Given the description of an element on the screen output the (x, y) to click on. 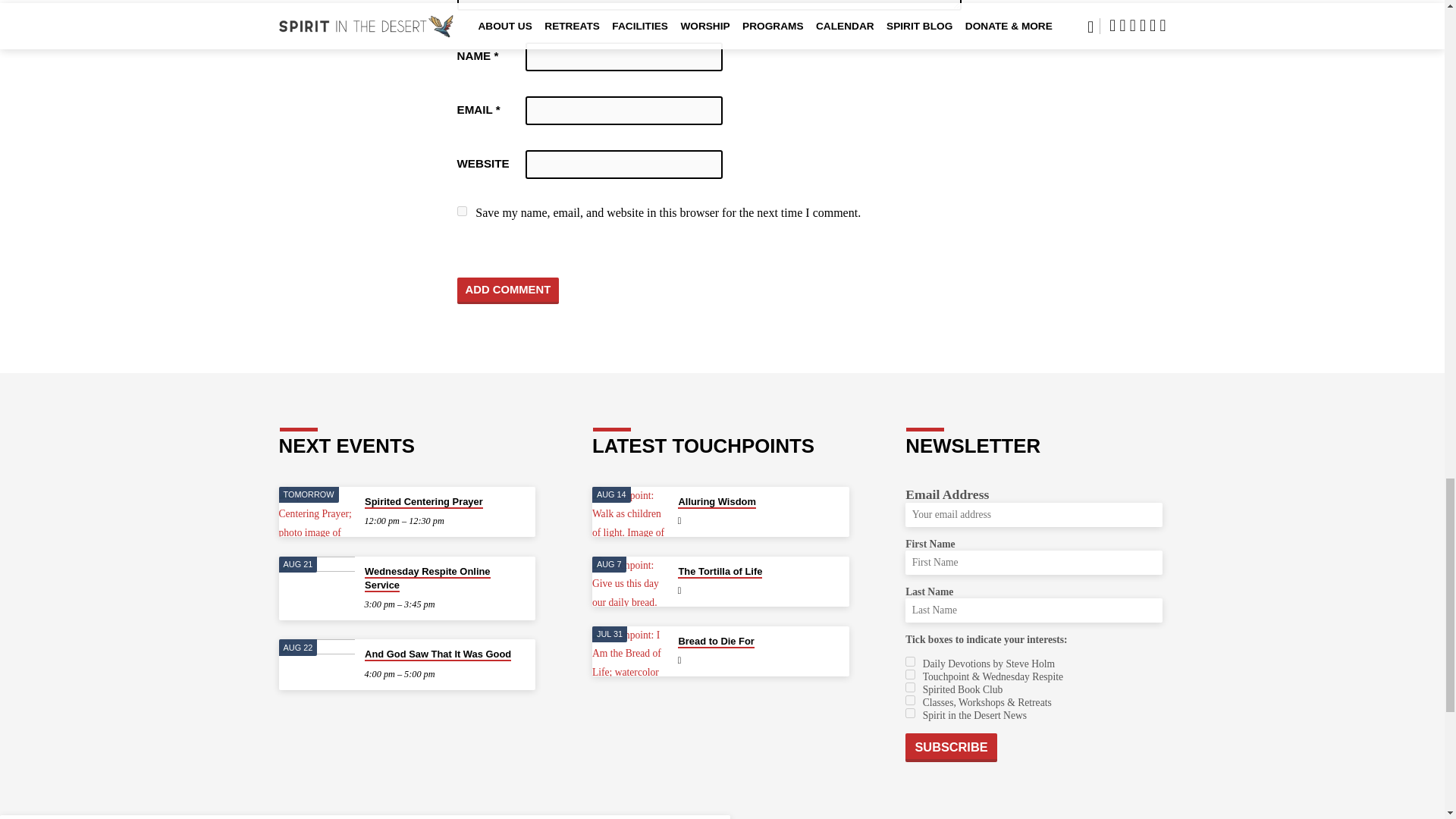
yes (461, 211)
db06863268 (910, 713)
e15f548fa0 (910, 700)
Add Comment (508, 290)
451e56ae58 (910, 687)
Subscribe (951, 747)
44e0e54a7c (910, 674)
f19ab91031 (910, 661)
